Given the description of an element on the screen output the (x, y) to click on. 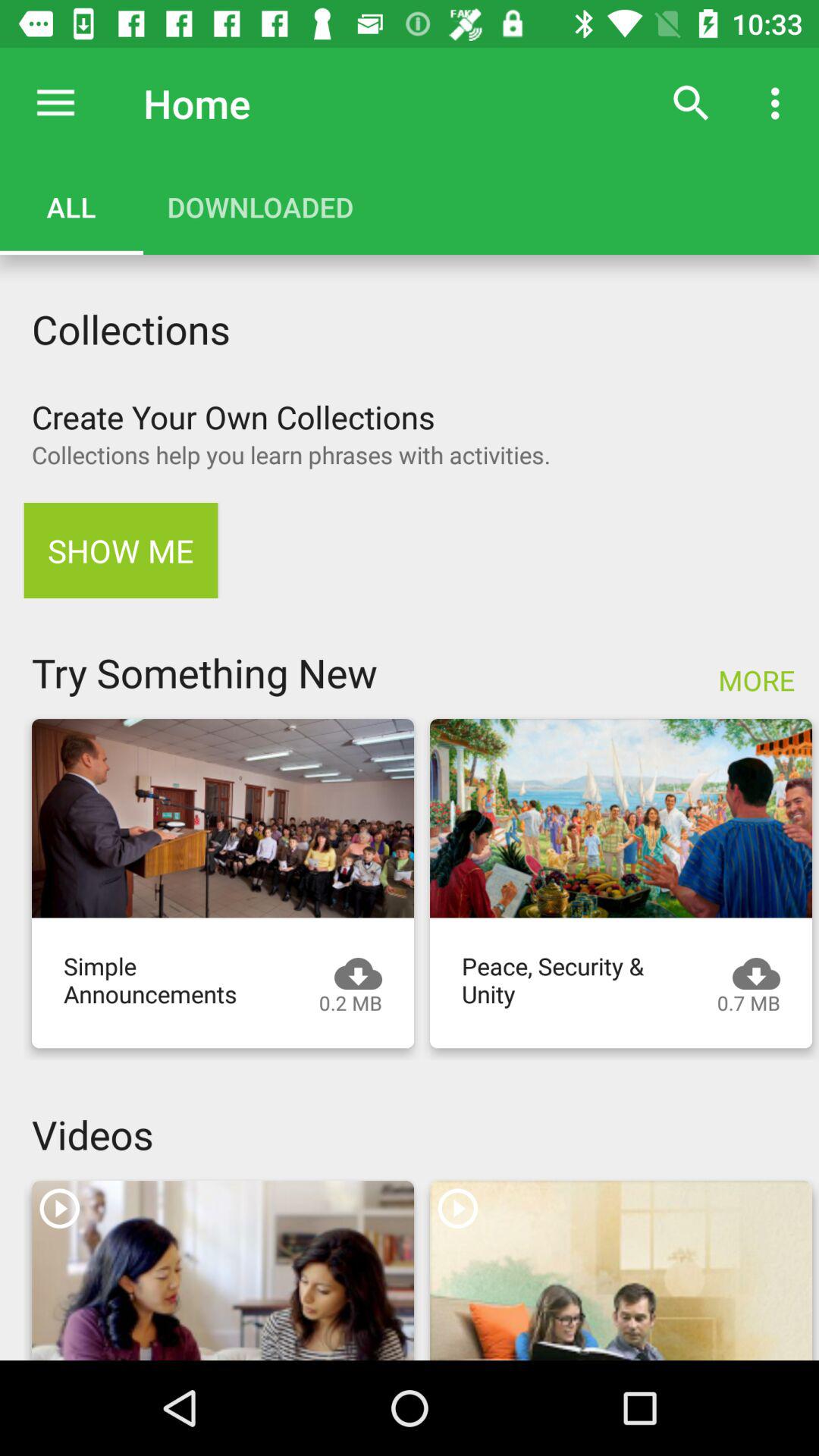
home (55, 103)
